Given the description of an element on the screen output the (x, y) to click on. 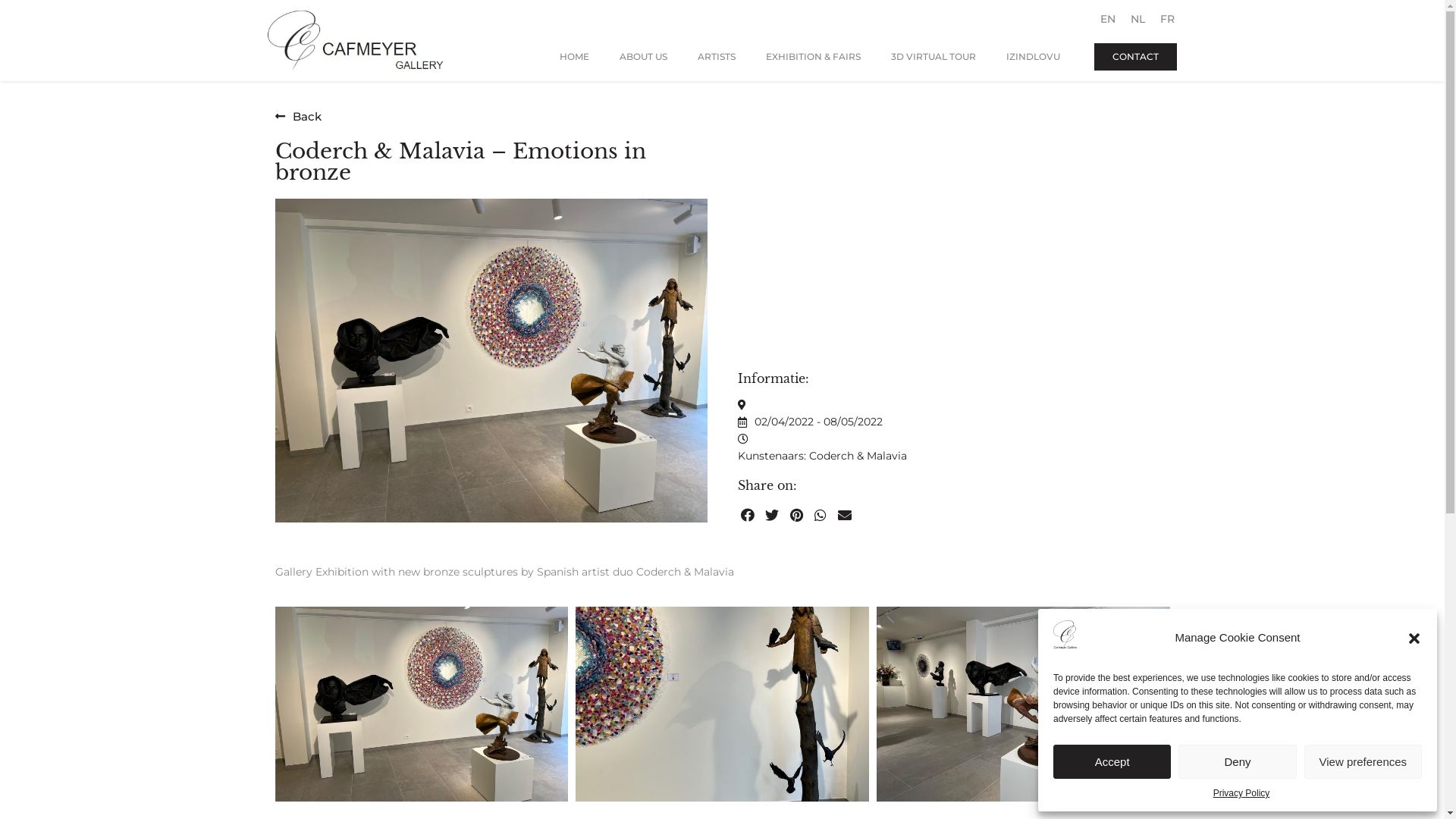
EXHIBITION & FAIRS Element type: text (812, 55)
ARTISTS Element type: text (716, 55)
Privacy Policy Element type: text (1241, 793)
Accept Element type: text (1111, 761)
3D VIRTUAL TOUR Element type: text (933, 55)
EN Element type: text (1107, 18)
Back Element type: text (297, 116)
ABOUT US Element type: text (643, 55)
Deny Element type: text (1236, 761)
HOME Element type: text (574, 55)
View preferences Element type: text (1362, 761)
FR Element type: text (1167, 18)
IZINDLOVU Element type: text (1033, 55)
CONTACT Element type: text (1135, 55)
NL Element type: text (1137, 18)
